Given the description of an element on the screen output the (x, y) to click on. 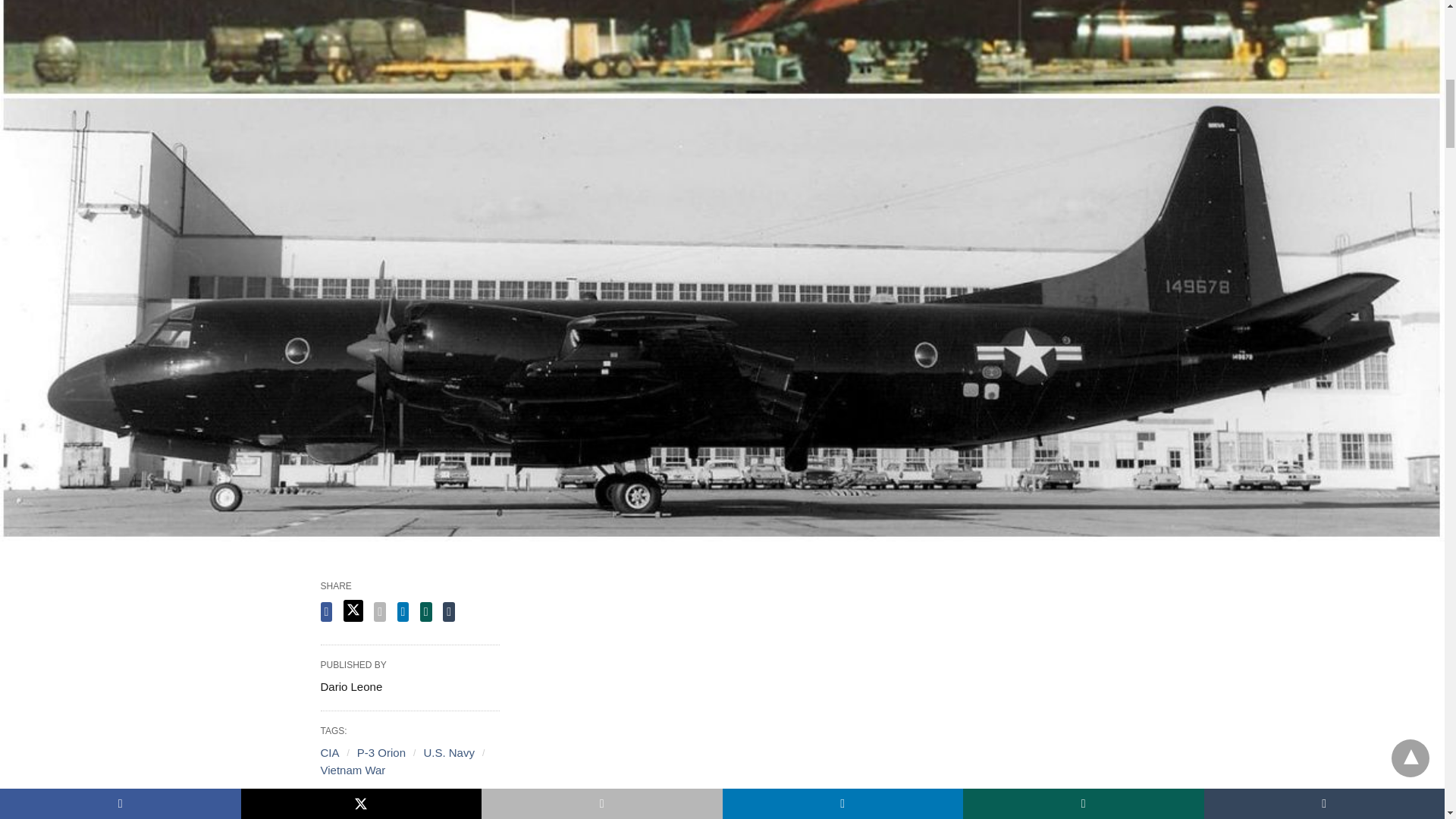
3rd party ad content (834, 703)
CIA (329, 752)
P-3 Orion (381, 752)
